Given the description of an element on the screen output the (x, y) to click on. 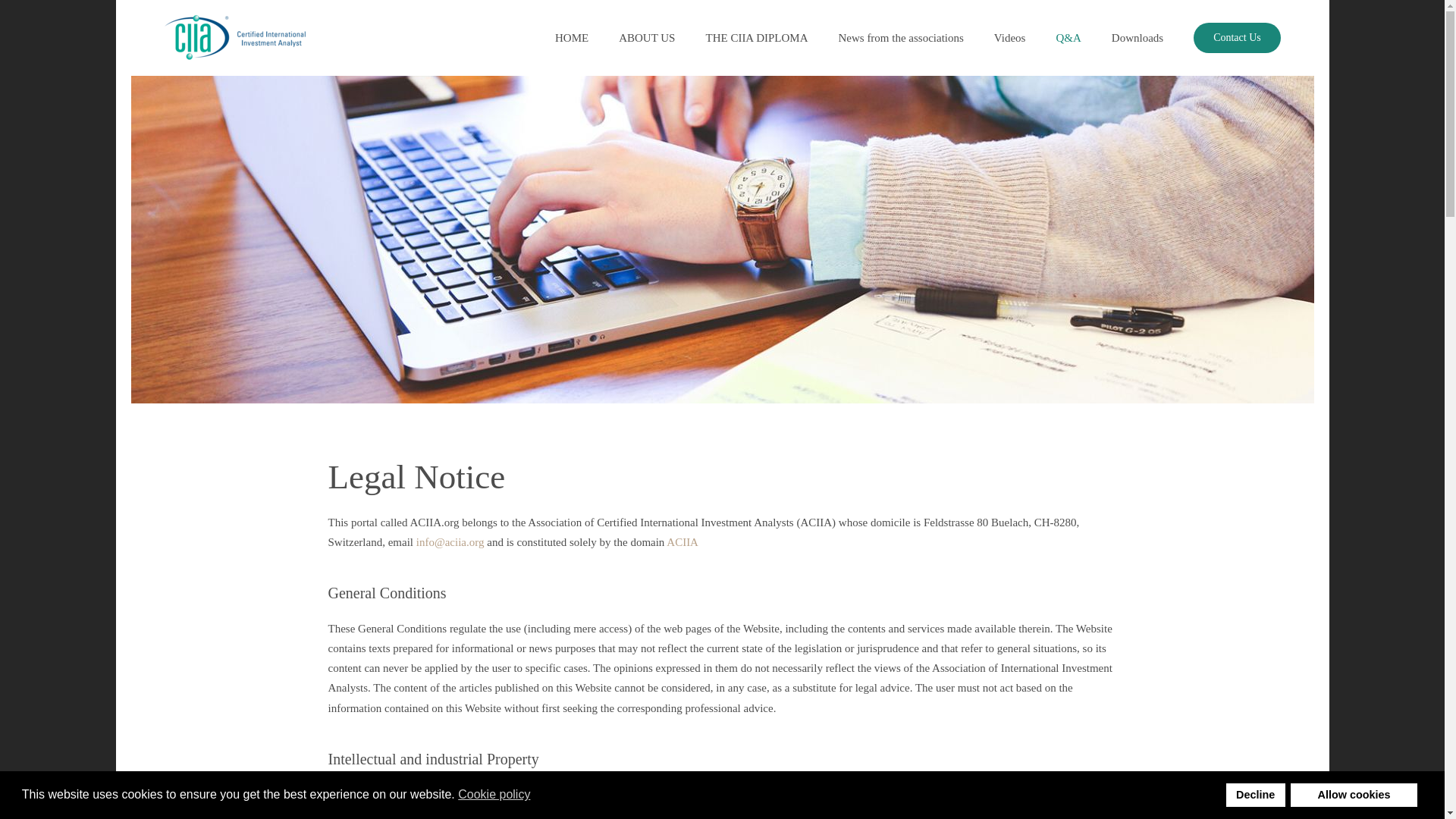
ABOUT US (647, 38)
Cookie policy (495, 794)
Allow cookies (1353, 794)
Decline (1255, 794)
THE CIIA DIPLOMA (756, 38)
